Given the description of an element on the screen output the (x, y) to click on. 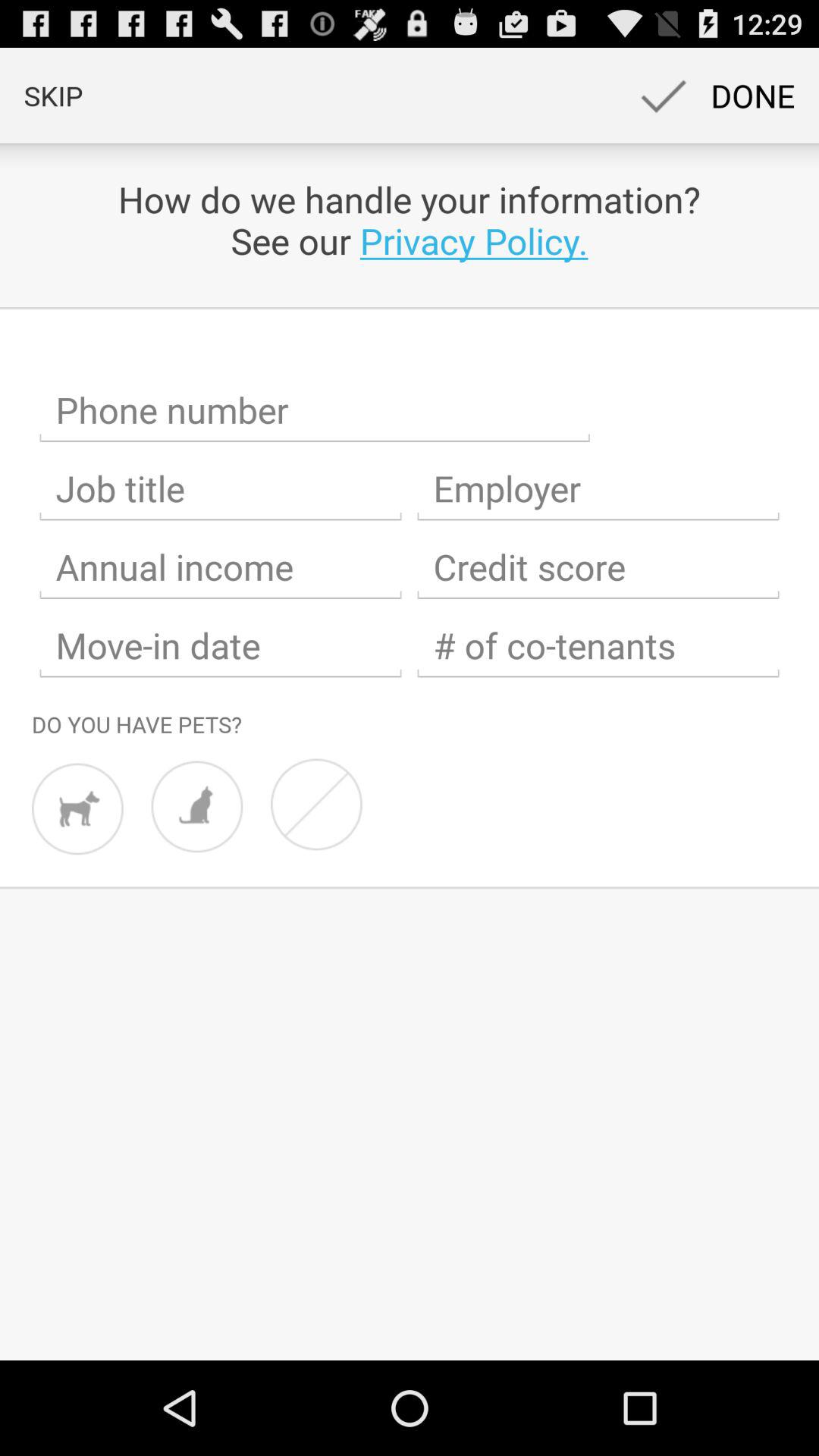
employer name (598, 488)
